Given the description of an element on the screen output the (x, y) to click on. 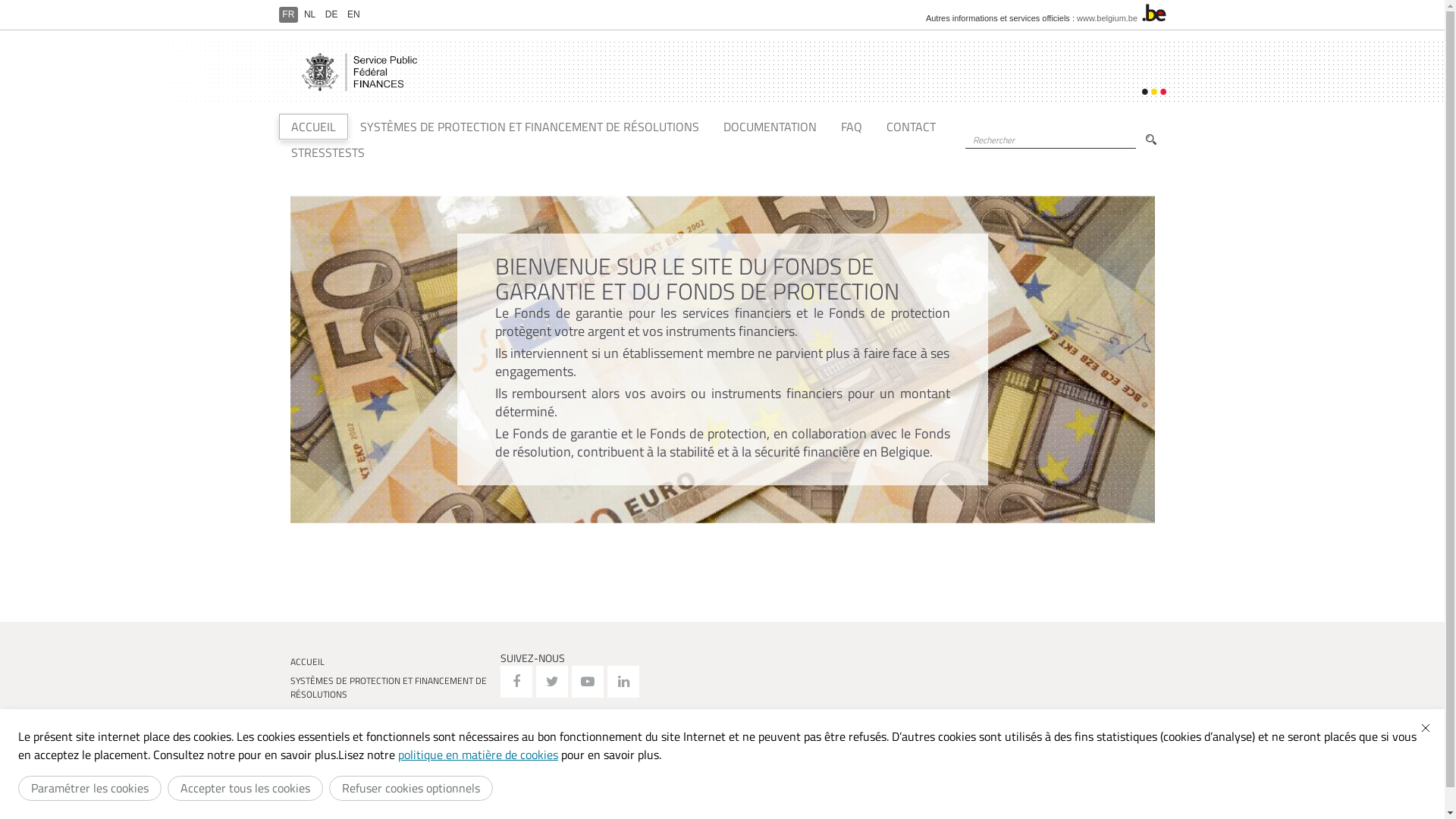
CONTACT Element type: text (389, 750)
CONTACT Element type: text (910, 126)
Twitter Element type: text (551, 681)
YouTube Element type: text (587, 681)
www.belgium.be Element type: text (1106, 17)
Accepter tous les cookies Element type: text (245, 787)
Fermer Element type: hover (1425, 727)
DOCUMENTATION Element type: text (769, 126)
FAQ Element type: text (389, 731)
NL Element type: text (309, 13)
STRESSTESTS Element type: text (389, 769)
Rechercher Element type: text (968, 155)
Skip to main content Element type: text (17, 0)
Facebook Element type: text (516, 681)
ACCUEIL Element type: text (389, 661)
Enter the terms you wish to search for. Element type: hover (1049, 139)
DOCUMENTATION Element type: text (389, 712)
ACCUEIL Element type: text (313, 126)
Rechercher
Rechercher Element type: text (1150, 139)
FAQ Element type: text (850, 126)
STRESSTESTS Element type: text (327, 152)
Refuser cookies optionnels Element type: text (410, 787)
FR Element type: text (288, 13)
EN Element type: text (353, 13)
DE Element type: text (331, 13)
LinkedIn Element type: text (623, 681)
